Given the description of an element on the screen output the (x, y) to click on. 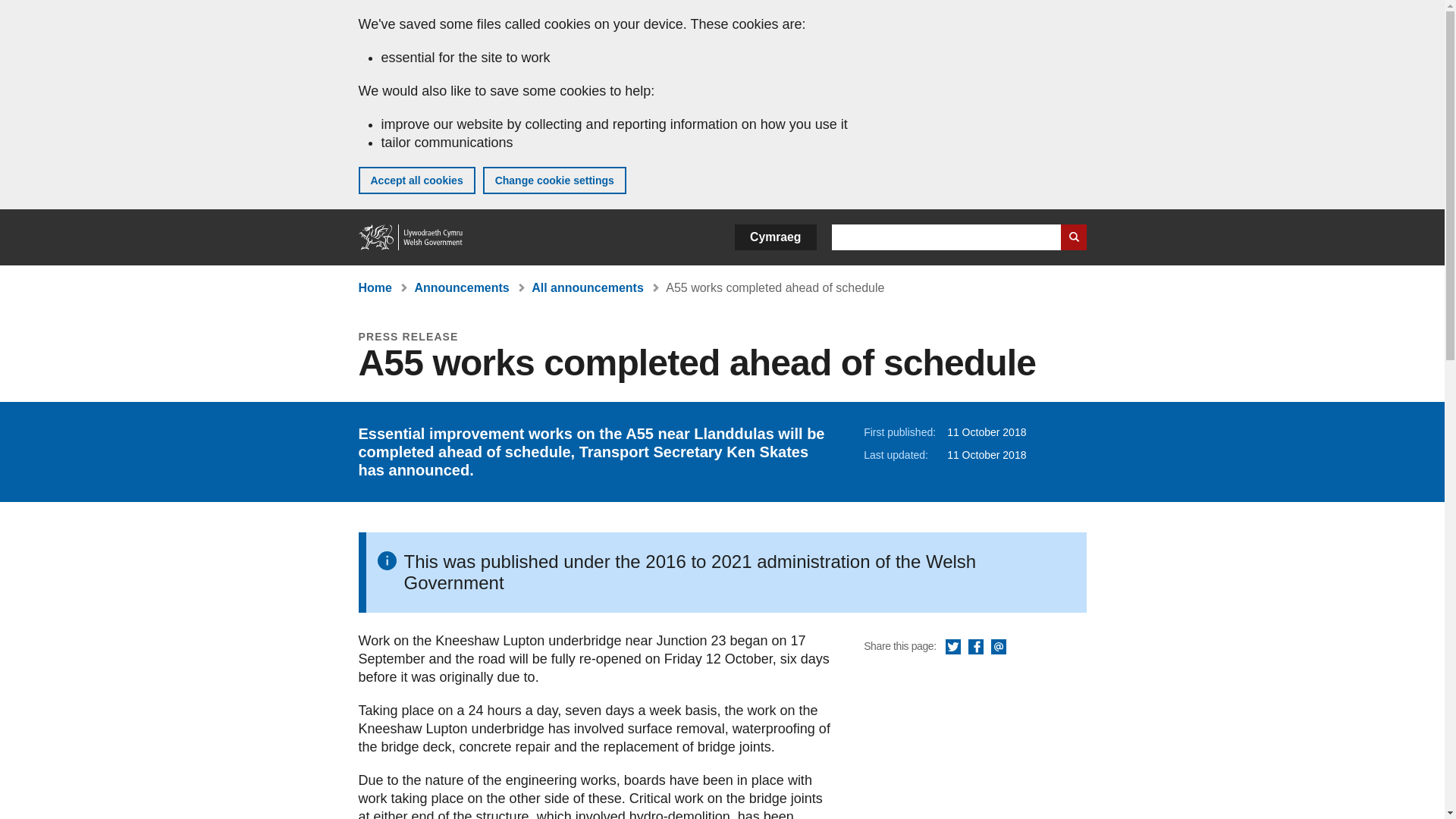
Home (374, 287)
Welsh Government (411, 237)
Search website (1072, 237)
Cymraeg (775, 237)
All announcements (587, 287)
Skip to main content (22, 11)
Facebook (976, 647)
Accept all cookies (416, 180)
Change cookie settings (554, 180)
Search website (1072, 237)
